Given the description of an element on the screen output the (x, y) to click on. 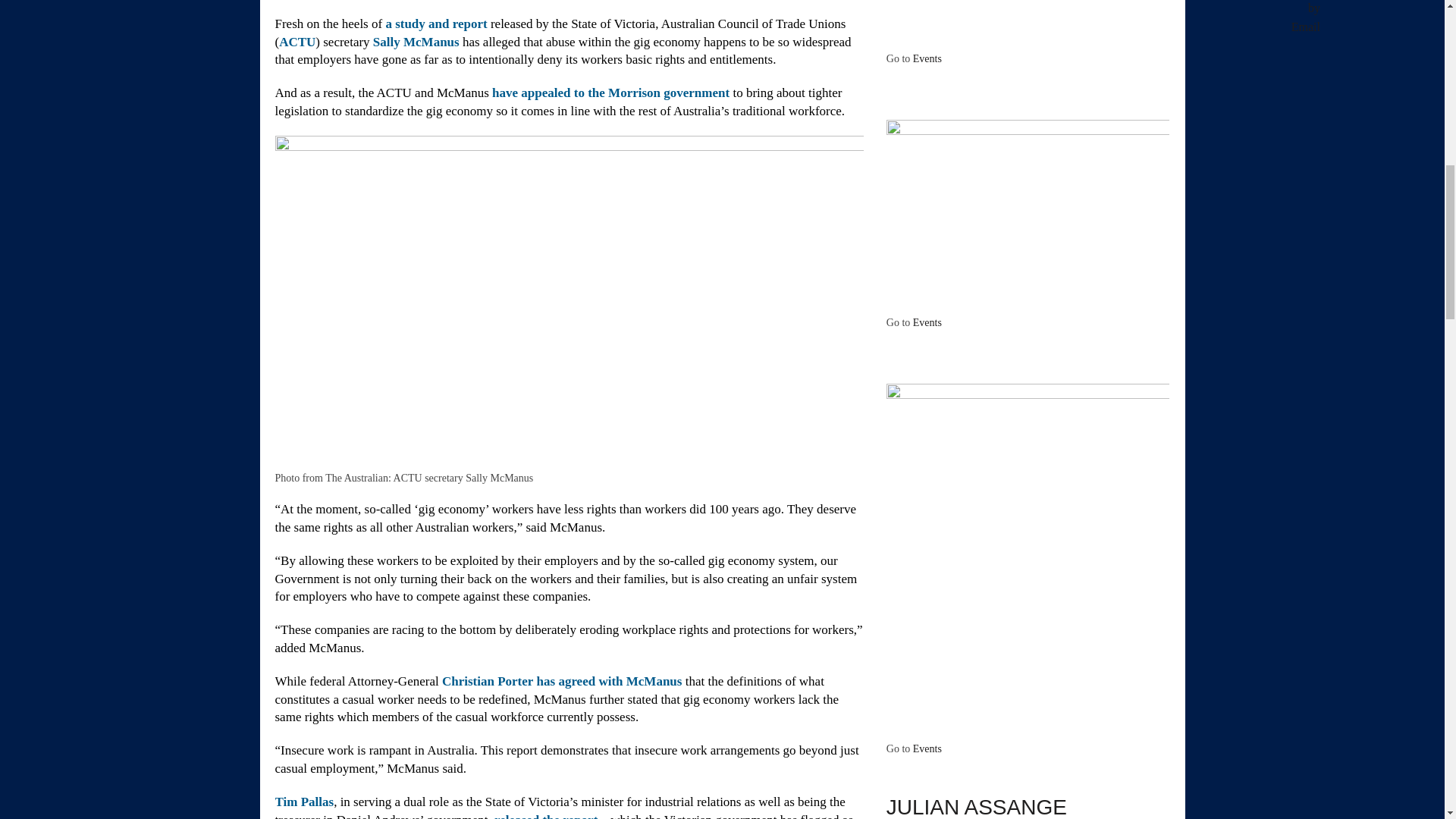
ACTU (297, 42)
a study and report (435, 23)
released the report (545, 816)
Tim Pallas (304, 801)
Sally McManus (416, 42)
has agreed with McManus (609, 681)
Christian Porter (487, 681)
have appealed to the Morrison government (610, 92)
